Given the description of an element on the screen output the (x, y) to click on. 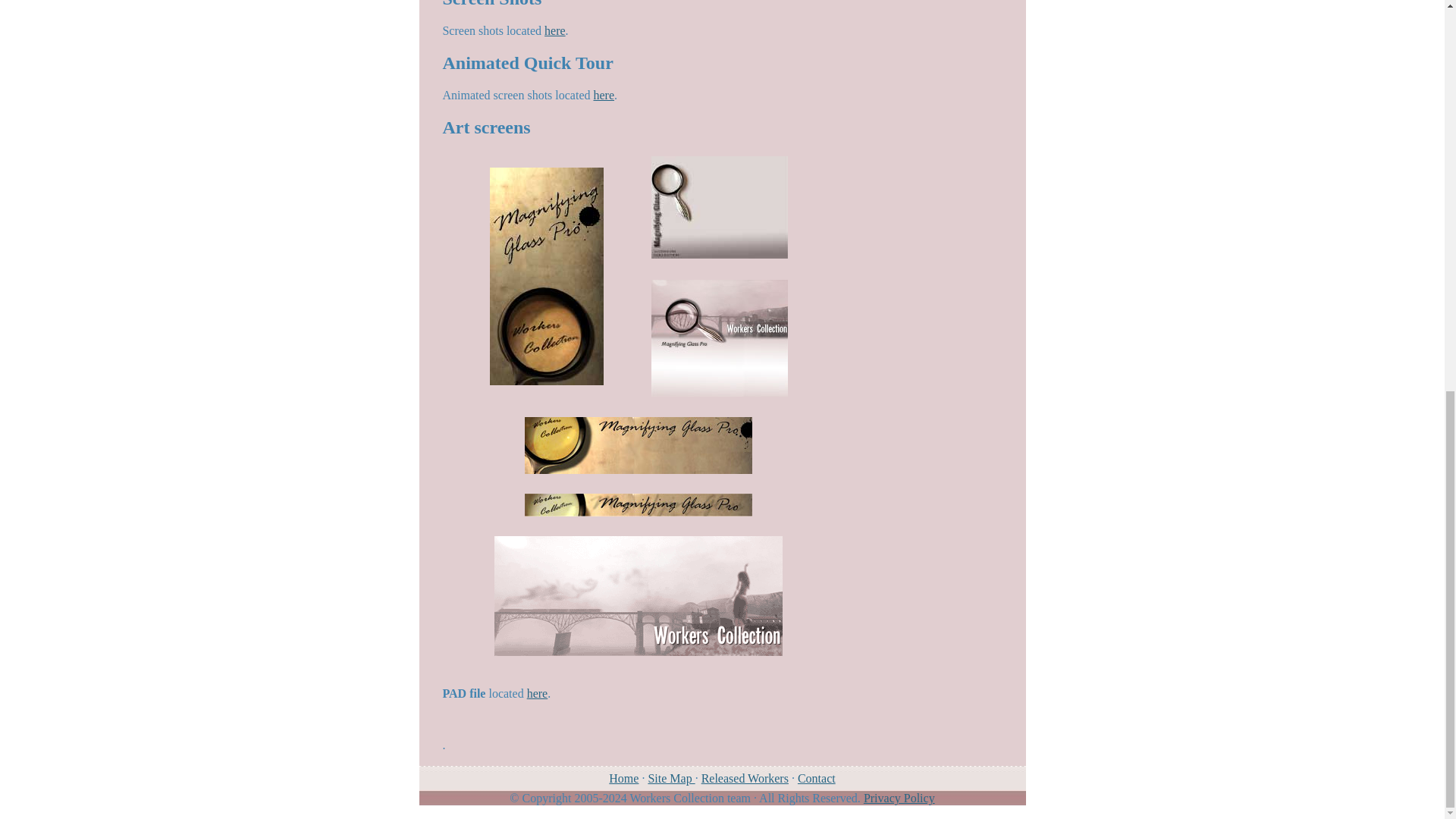
Released Workers (745, 778)
Home (623, 778)
here (555, 30)
Site Map (670, 778)
here (603, 94)
Privacy Policy (898, 797)
Contact (816, 778)
here (537, 693)
